Given the description of an element on the screen output the (x, y) to click on. 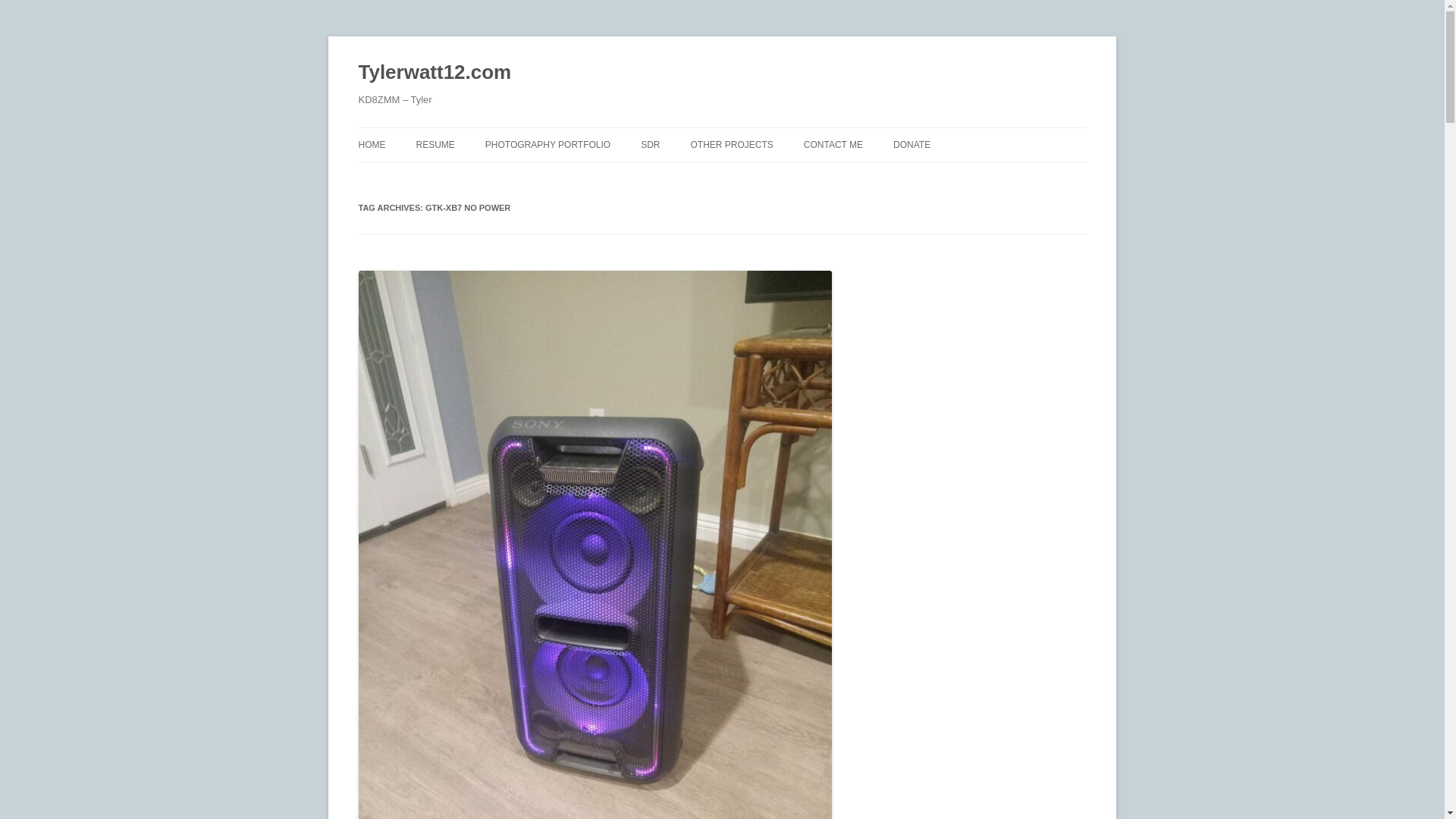
RESUME (434, 144)
Other posts (731, 144)
DONATE (911, 144)
OTHER PROJECTS (731, 144)
Tylerwatt12.com (434, 72)
PHOTOGRAPHY PORTFOLIO (547, 144)
CONTACT ME (833, 144)
